Given the description of an element on the screen output the (x, y) to click on. 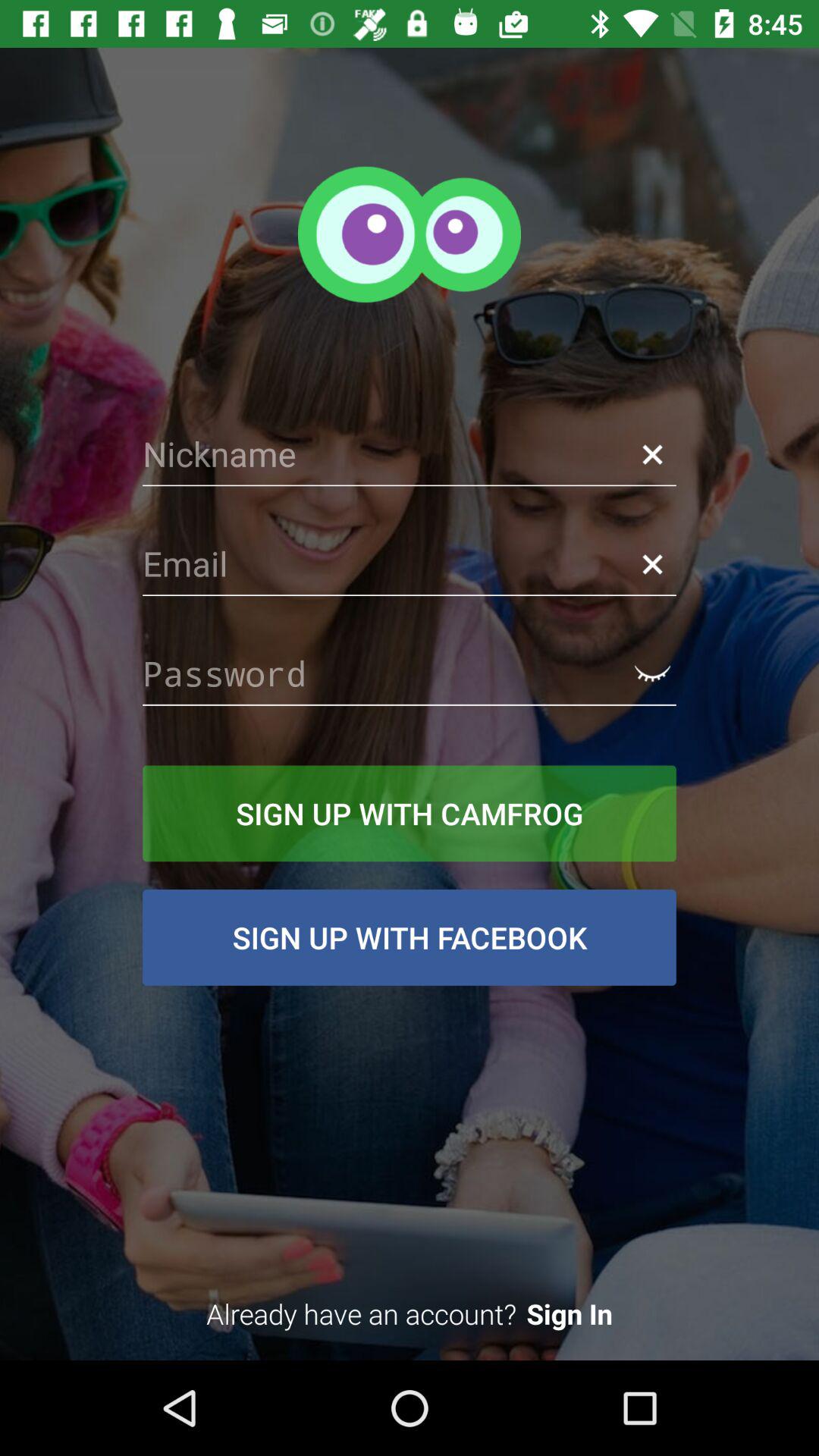
enter nickname (409, 454)
